Given the description of an element on the screen output the (x, y) to click on. 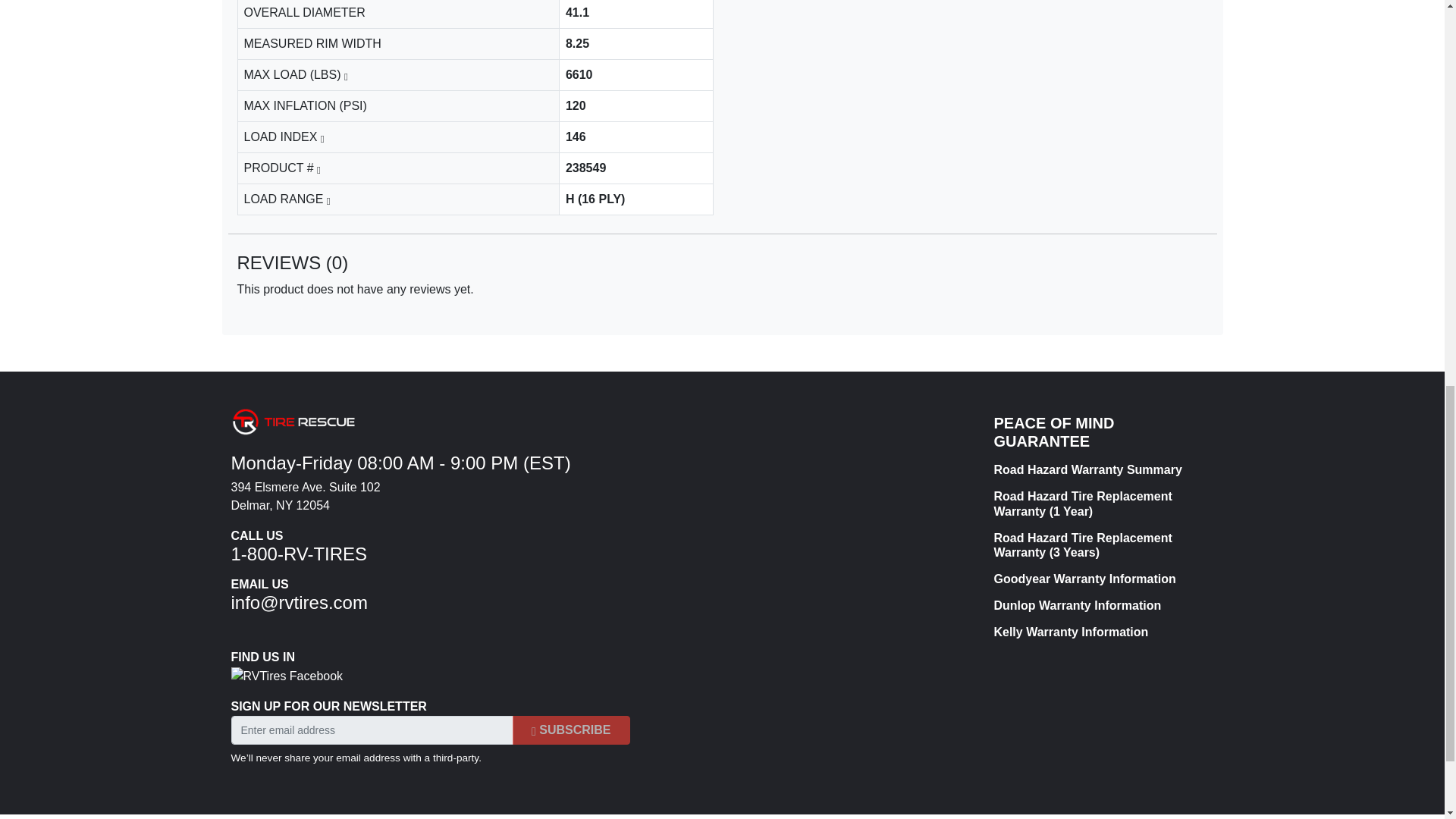
1-800-RV-TIRES (298, 553)
Road Hazard Warranty Summary (1096, 469)
SUBSCRIBE (571, 729)
PEACE OF MIND GUARANTEE (1096, 431)
